Given the description of an element on the screen output the (x, y) to click on. 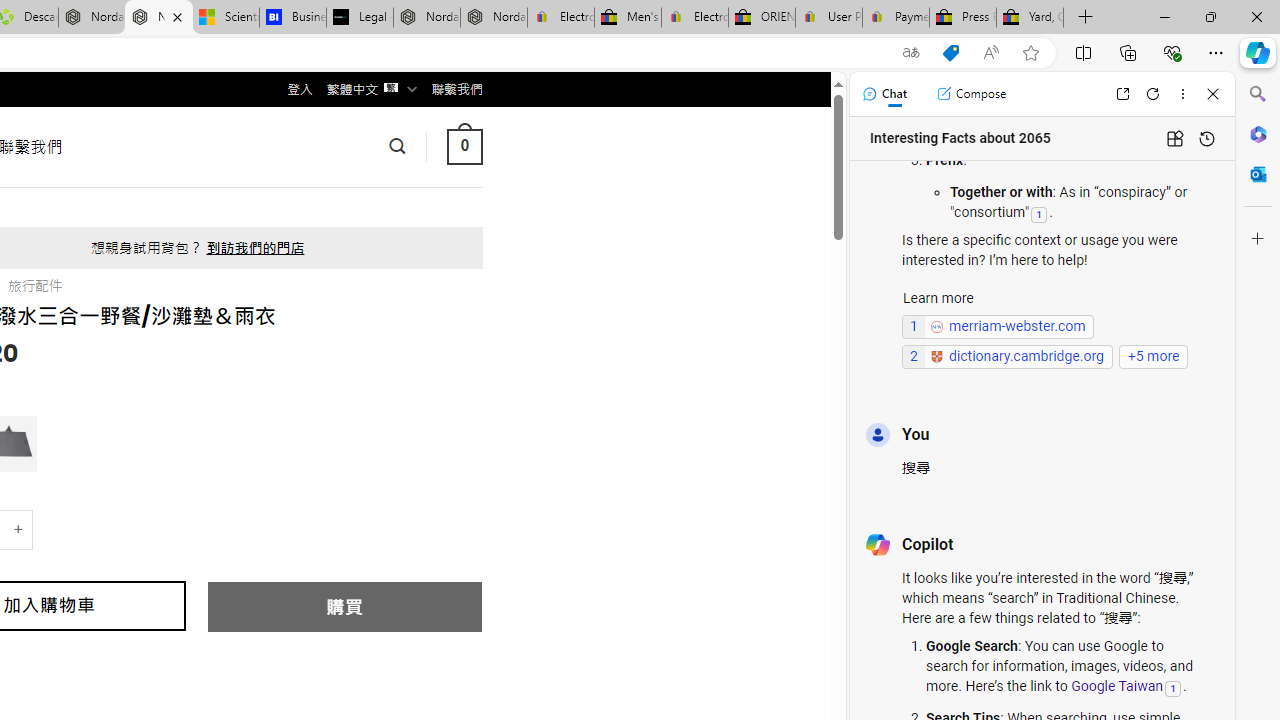
User Privacy Notice | eBay (828, 17)
This site has coupons! Shopping in Microsoft Edge (950, 53)
  0   (464, 146)
Press Room - eBay Inc. (962, 17)
